Given the description of an element on the screen output the (x, y) to click on. 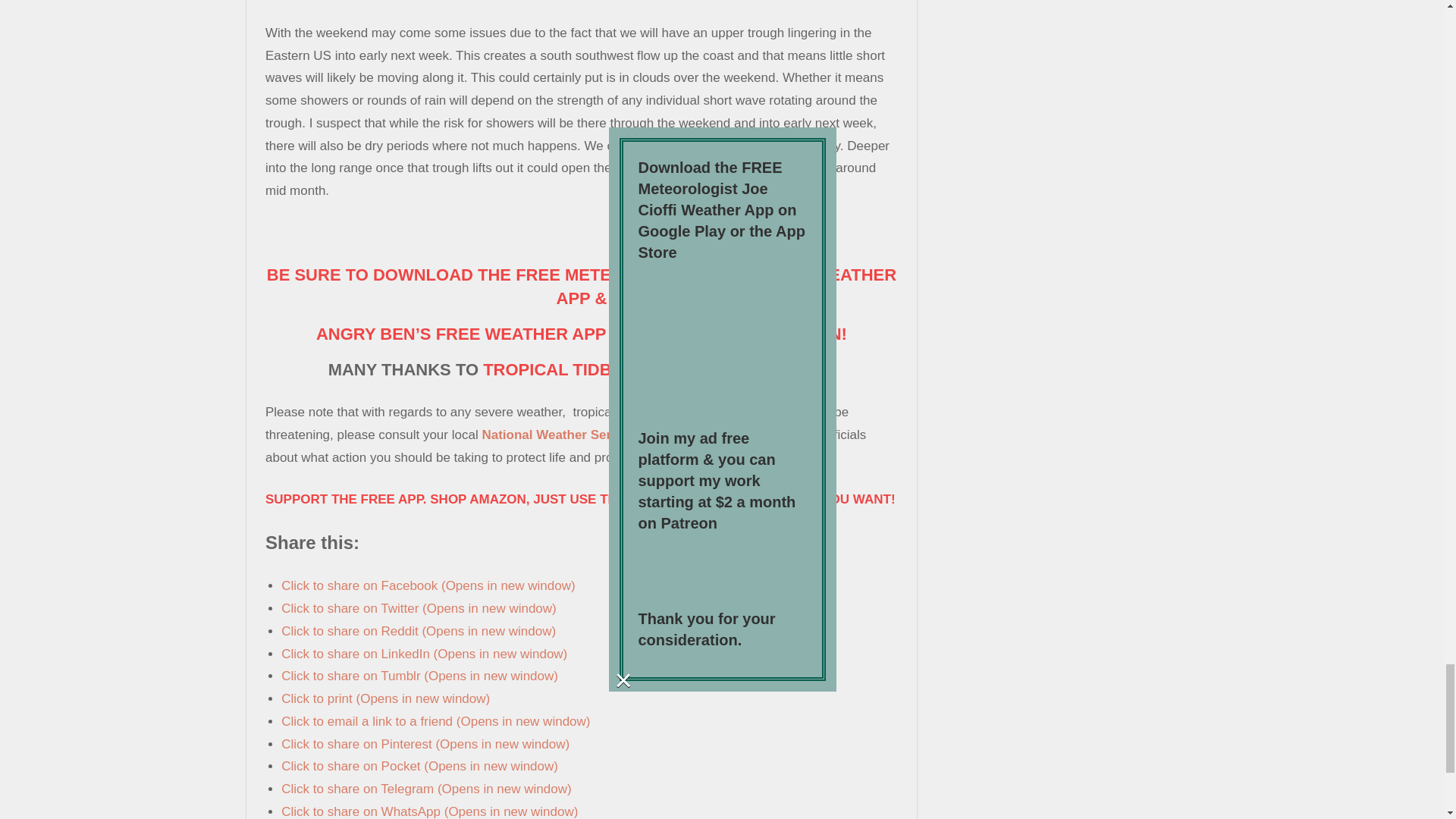
Click to share on Facebook (428, 585)
Click to share on LinkedIn (424, 653)
Click to share on Twitter (418, 608)
Click to email a link to a friend (435, 721)
Click to share on WhatsApp (429, 811)
Click to share on Telegram (425, 789)
Click to share on Pocket (419, 766)
Click to share on Tumblr (419, 676)
Click to print (385, 698)
Click to share on Reddit (418, 631)
